Given the description of an element on the screen output the (x, y) to click on. 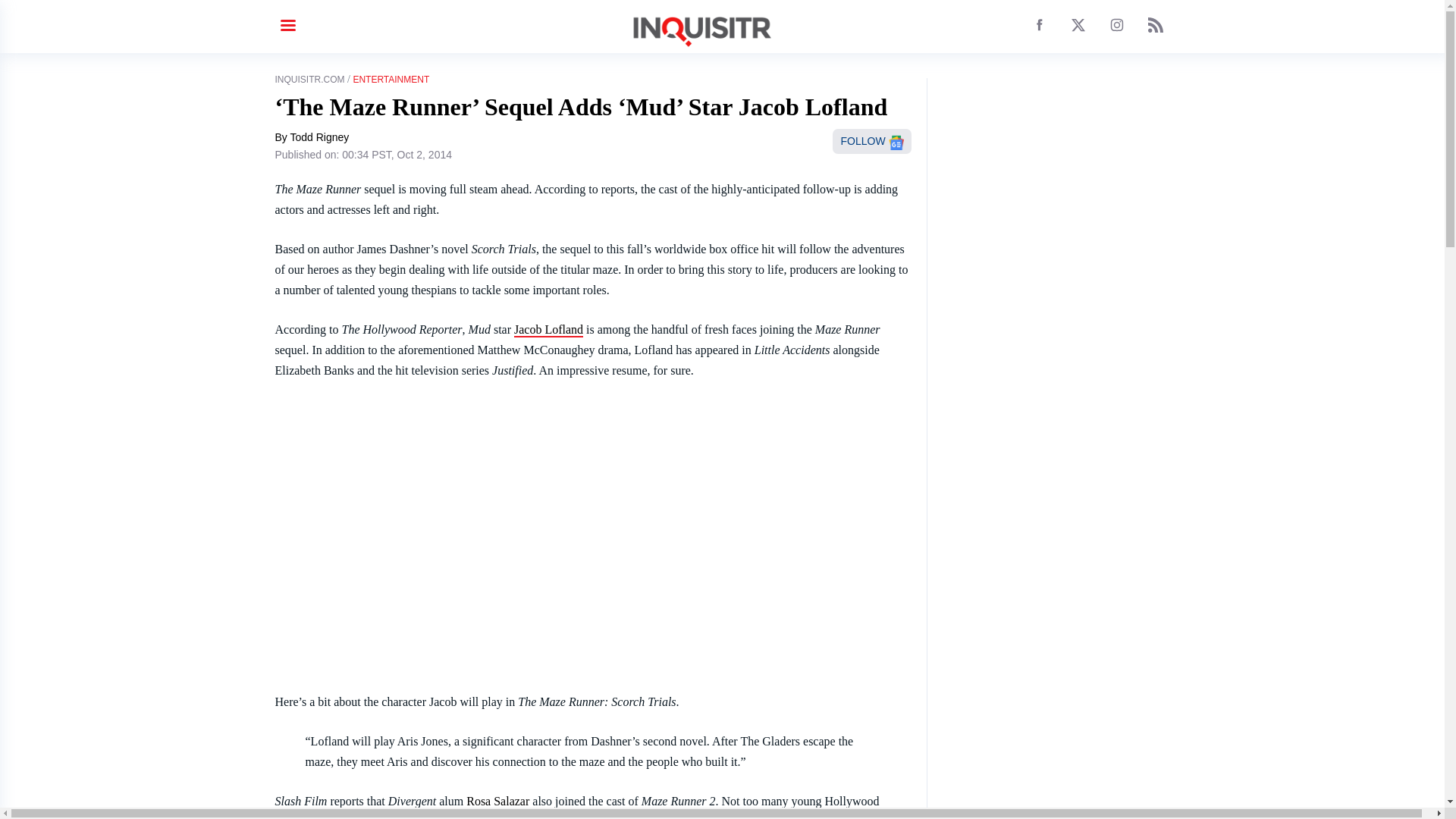
INQUISITR.COM (309, 79)
ENTERTAINMENT (390, 79)
